Given the description of an element on the screen output the (x, y) to click on. 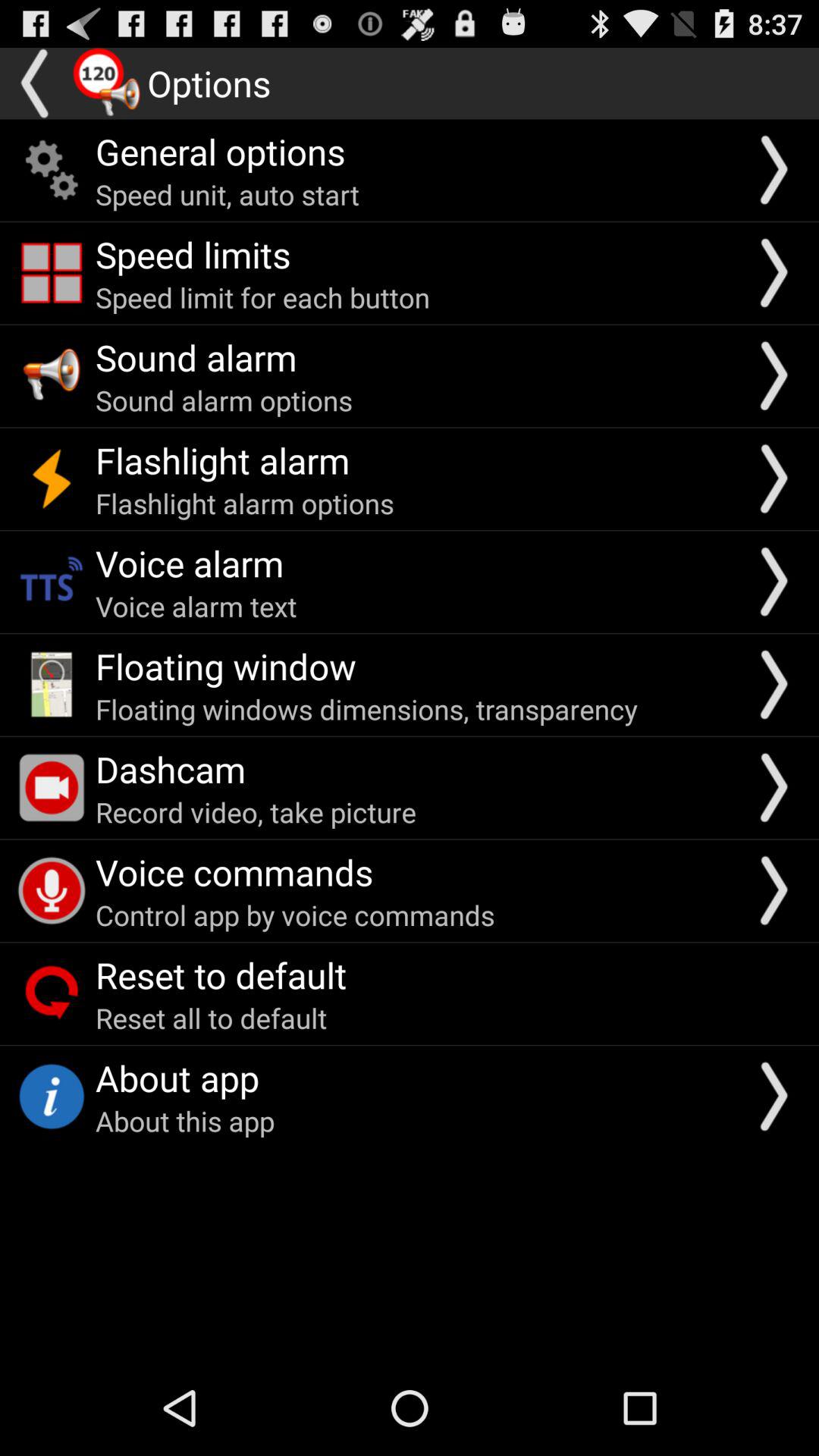
turn off the floating window icon (225, 666)
